Given the description of an element on the screen output the (x, y) to click on. 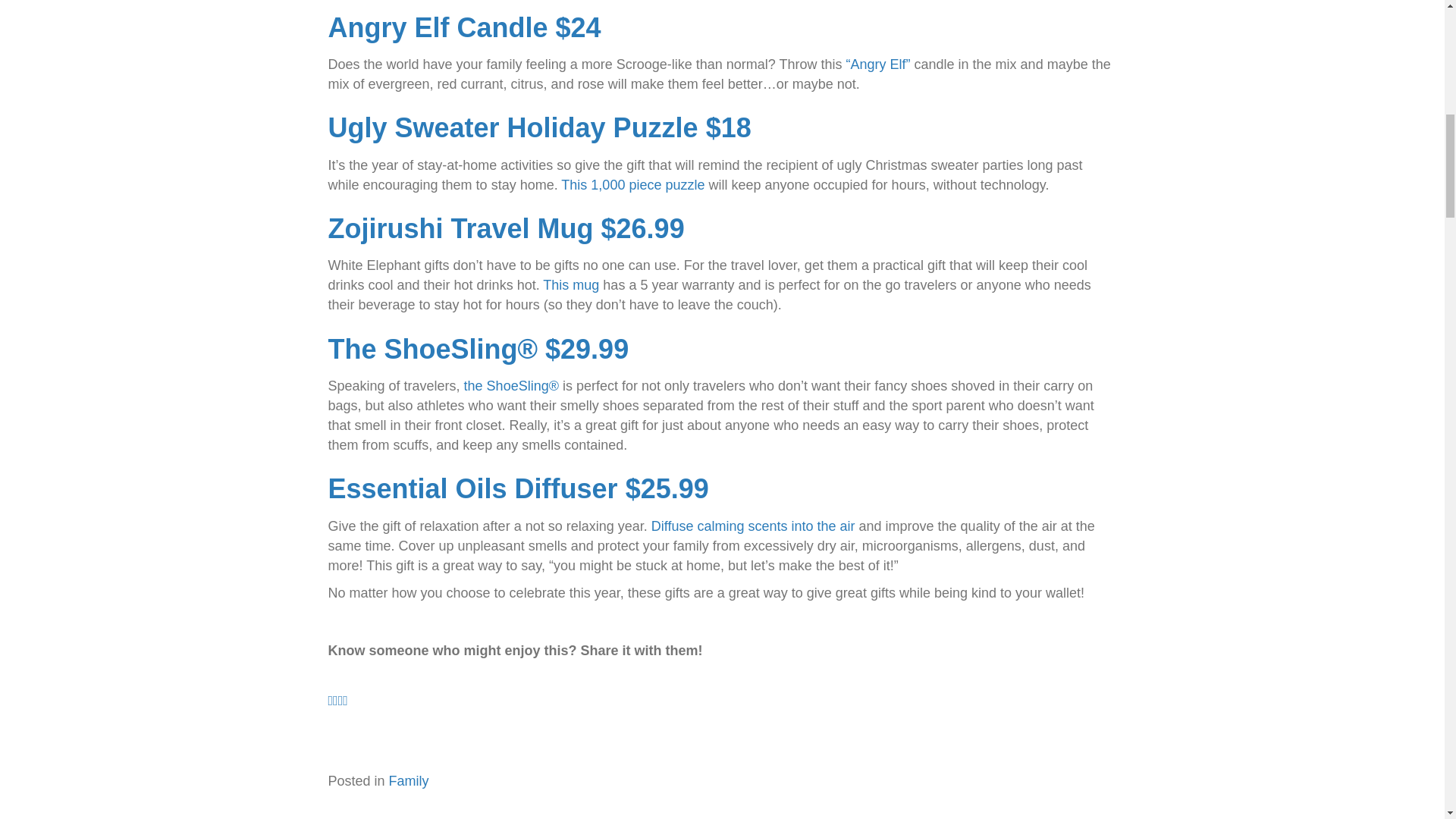
This 1,000 piece puzzle (630, 184)
This mug (569, 284)
Diffuse calming scents into the air (751, 525)
Family (408, 780)
